Given the description of an element on the screen output the (x, y) to click on. 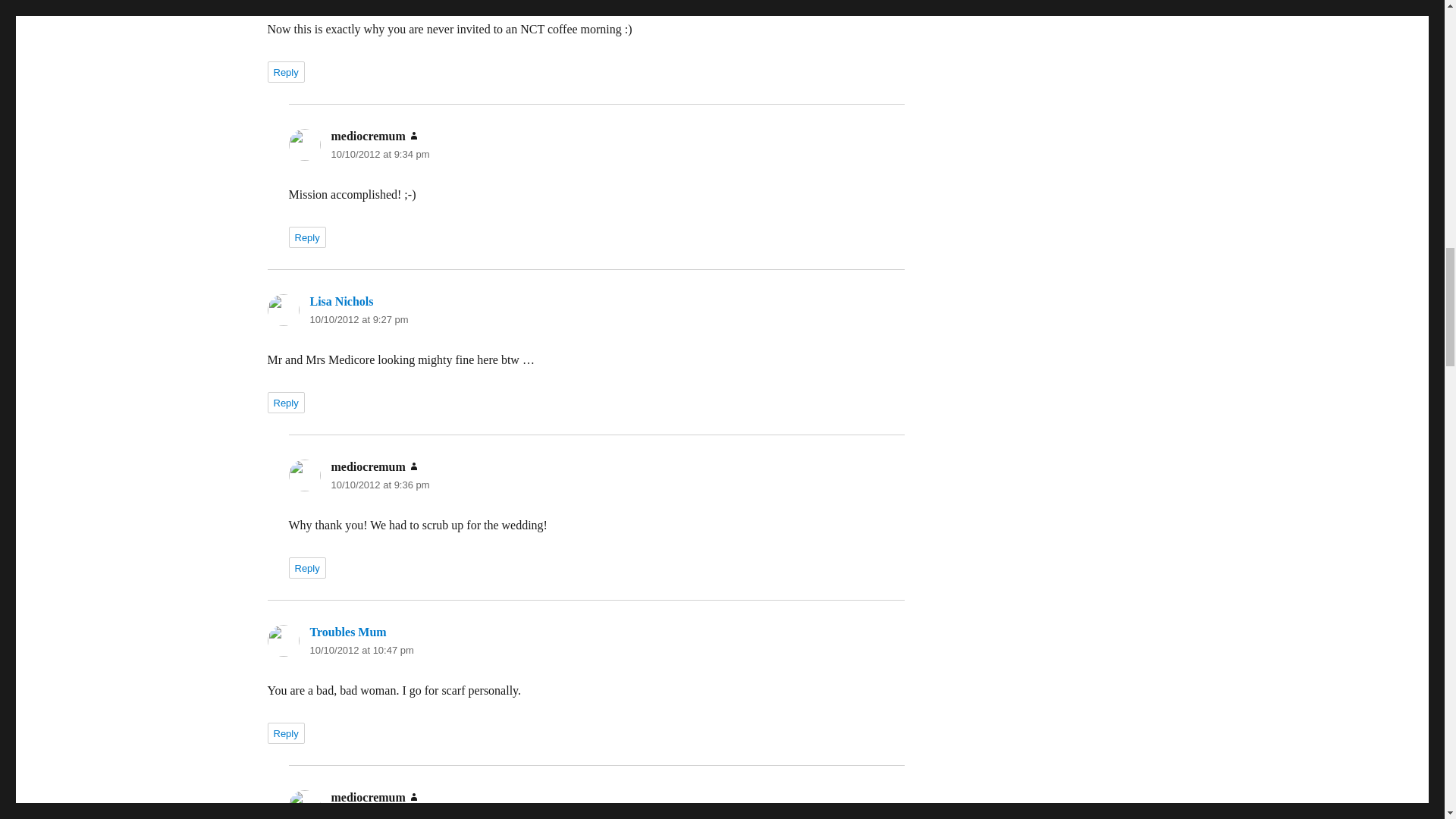
Reply (285, 402)
Reply (306, 237)
Reply (285, 71)
Reply (306, 567)
Troubles Mum (346, 631)
Lisa Nichols (340, 300)
Reply (285, 732)
